Given the description of an element on the screen output the (x, y) to click on. 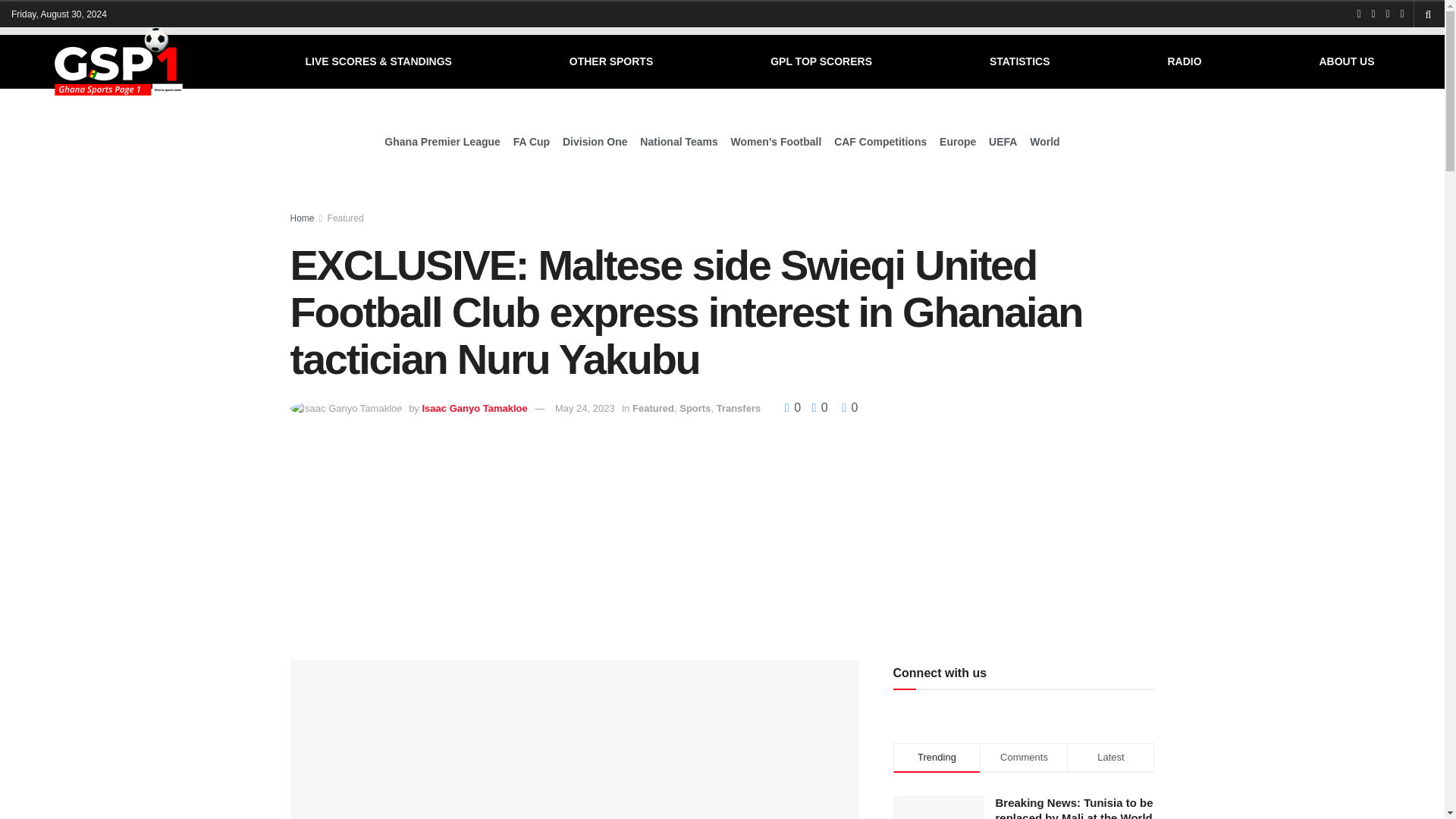
Ghana Premier League (442, 141)
Division One (594, 141)
OTHER SPORTS (611, 61)
RADIO (1184, 61)
GPL TOP SCORERS (821, 61)
STATISTICS (1019, 61)
ABOUT US (1346, 61)
FA Cup (531, 141)
